Given the description of an element on the screen output the (x, y) to click on. 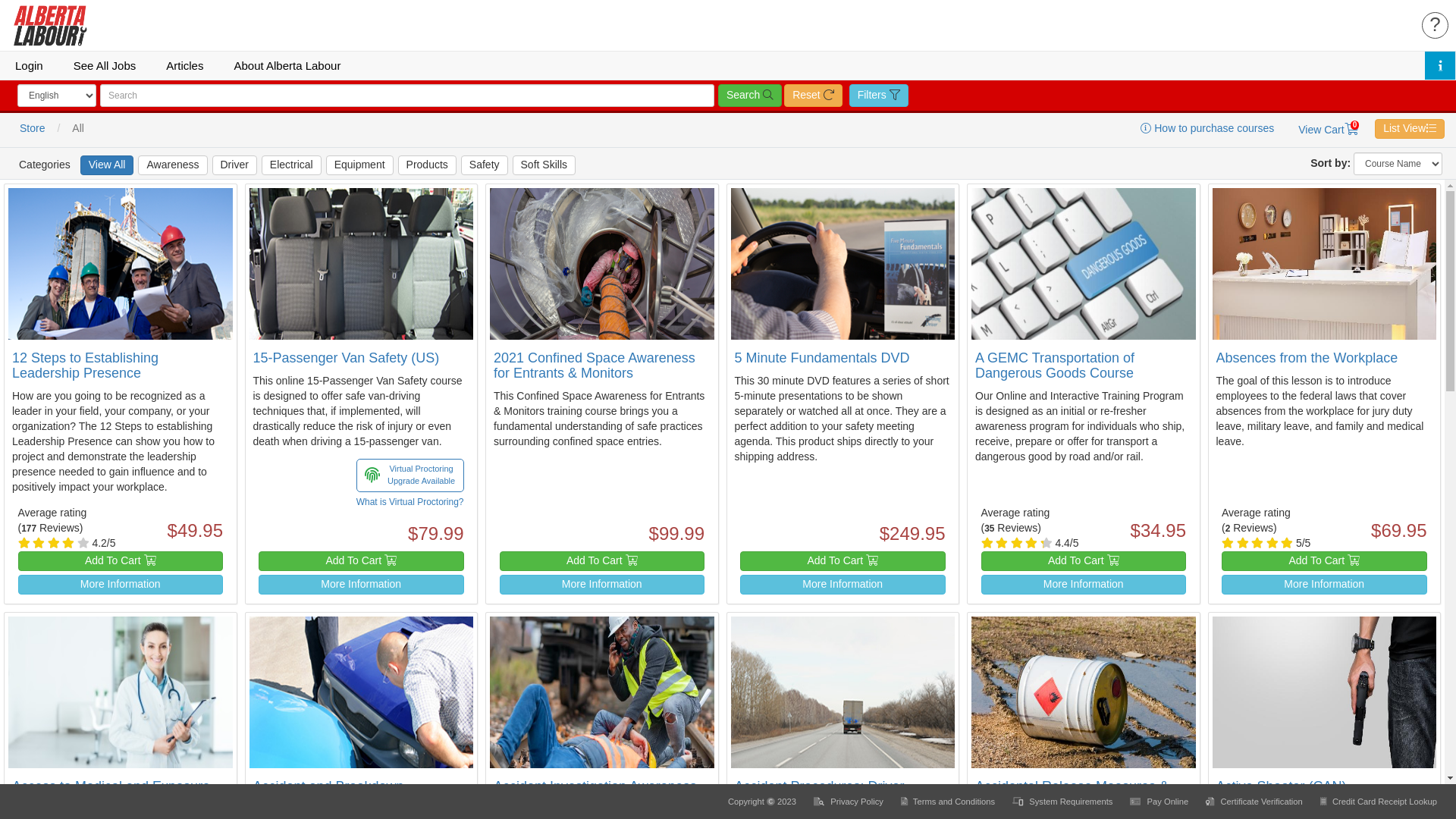
Login Element type: text (29, 65)
About Alberta Labour Element type: text (286, 65)
View Cart0 Element type: text (1328, 130)
Reset Element type: text (812, 95)
More Information Element type: text (842, 584)
12 Steps to Establishing Leadership Presence Element type: text (85, 365)
Active Shooter (CAN) Element type: text (1281, 785)
15-Passenger Van Safety (US) Element type: text (346, 357)
Accident Procedures: Driver Training Series Element type: text (818, 793)
5 Minute Fundamentals DVD Element type: text (821, 357)
More Information Element type: text (1324, 584)
List View Element type: text (1409, 128)
Search Element type: text (749, 95)
Awareness Element type: text (172, 165)
Add To Cart Element type: text (361, 561)
Safety Element type: text (484, 165)
Certificate Verification Element type: text (1254, 801)
Soft Skills Element type: text (543, 165)
Credit Card Receipt Lookup Element type: text (1378, 801)
More Information Element type: text (120, 584)
Add To Cart Element type: text (842, 561)
Products Element type: text (427, 165)
Pay Online Element type: text (1159, 801)
Articles Element type: text (184, 65)
Add To Cart Element type: text (1324, 561)
Access to Medical and Exposure Records for Managers (US) Element type: text (111, 793)
Add To Cart Element type: text (120, 561)
View All Element type: text (107, 165)
Filters Element type: text (878, 95)
A GEMC Transportation of Dangerous Goods Course Element type: text (1054, 365)
Accident Investigation Awareness Element type: text (594, 785)
? Element type: text (1434, 25)
Add To Cart Element type: text (1083, 561)
Terms and Conditions Element type: text (948, 801)
More Information Element type: text (1083, 584)
Electrical Element type: text (291, 165)
How to purchase courses Element type: text (1207, 128)
Absences from the Workplace Element type: text (1307, 357)
System Requirements Element type: text (1063, 801)
More Information Element type: text (601, 584)
Accident and Breakdown Procedures (US) Element type: text (328, 793)
Accidental Release Measures & Spill Cleanup Procedures Element type: text (1071, 793)
Add To Cart Element type: text (601, 561)
More Information Element type: text (361, 584)
2021 Confined Space Awareness for Entrants & Monitors Element type: text (594, 365)
Driver Element type: text (234, 165)
Privacy Policy Element type: text (849, 801)
See All Jobs Element type: text (104, 65)
Equipment Element type: text (359, 165)
Store Element type: text (32, 128)
